Given the description of an element on the screen output the (x, y) to click on. 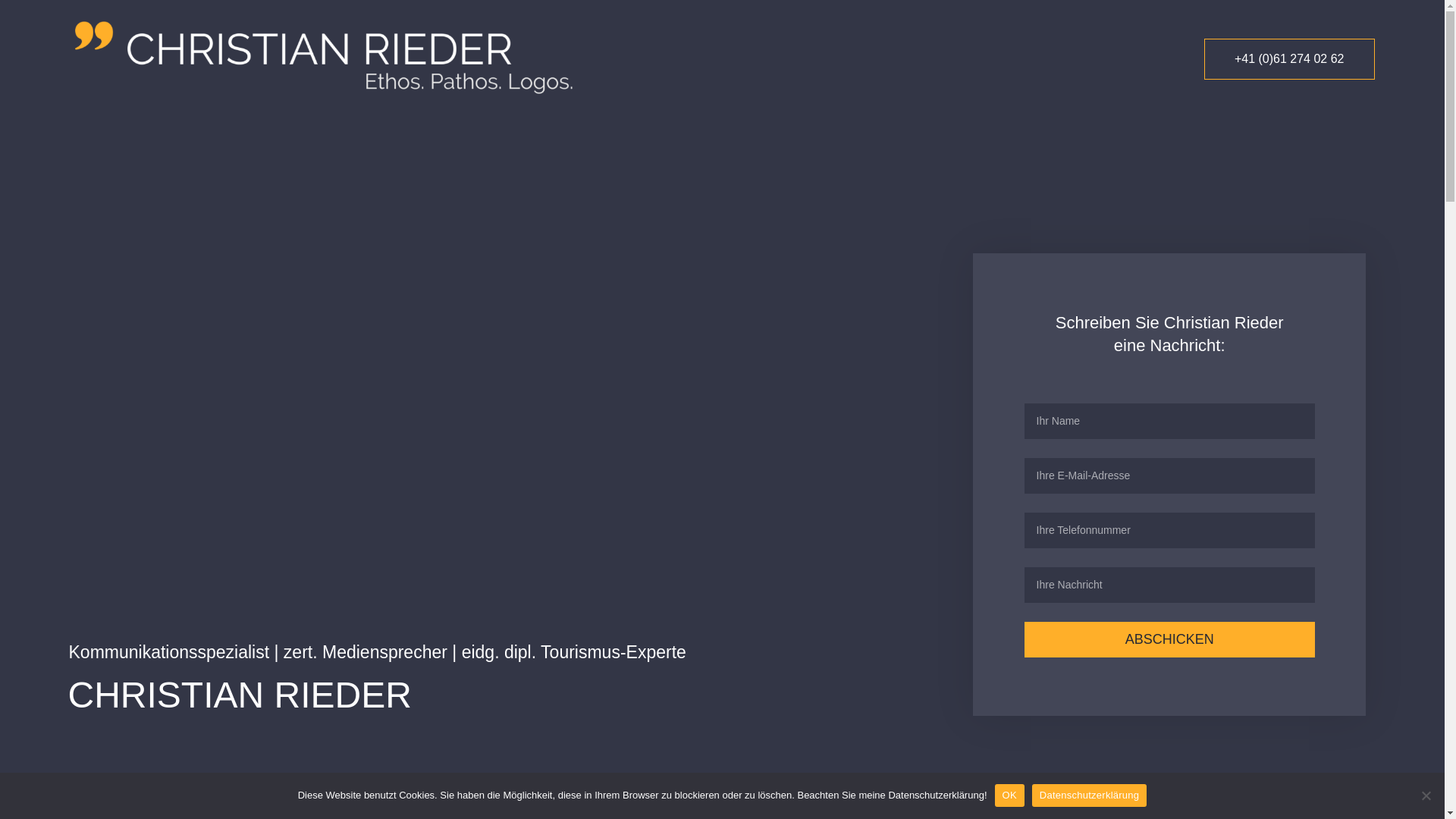
ABSCHICKEN Element type: text (1169, 639)
No Element type: hover (1425, 795)
OK Element type: text (1009, 795)
+41 (0)61 274 02 62 Element type: text (1289, 58)
